Given the description of an element on the screen output the (x, y) to click on. 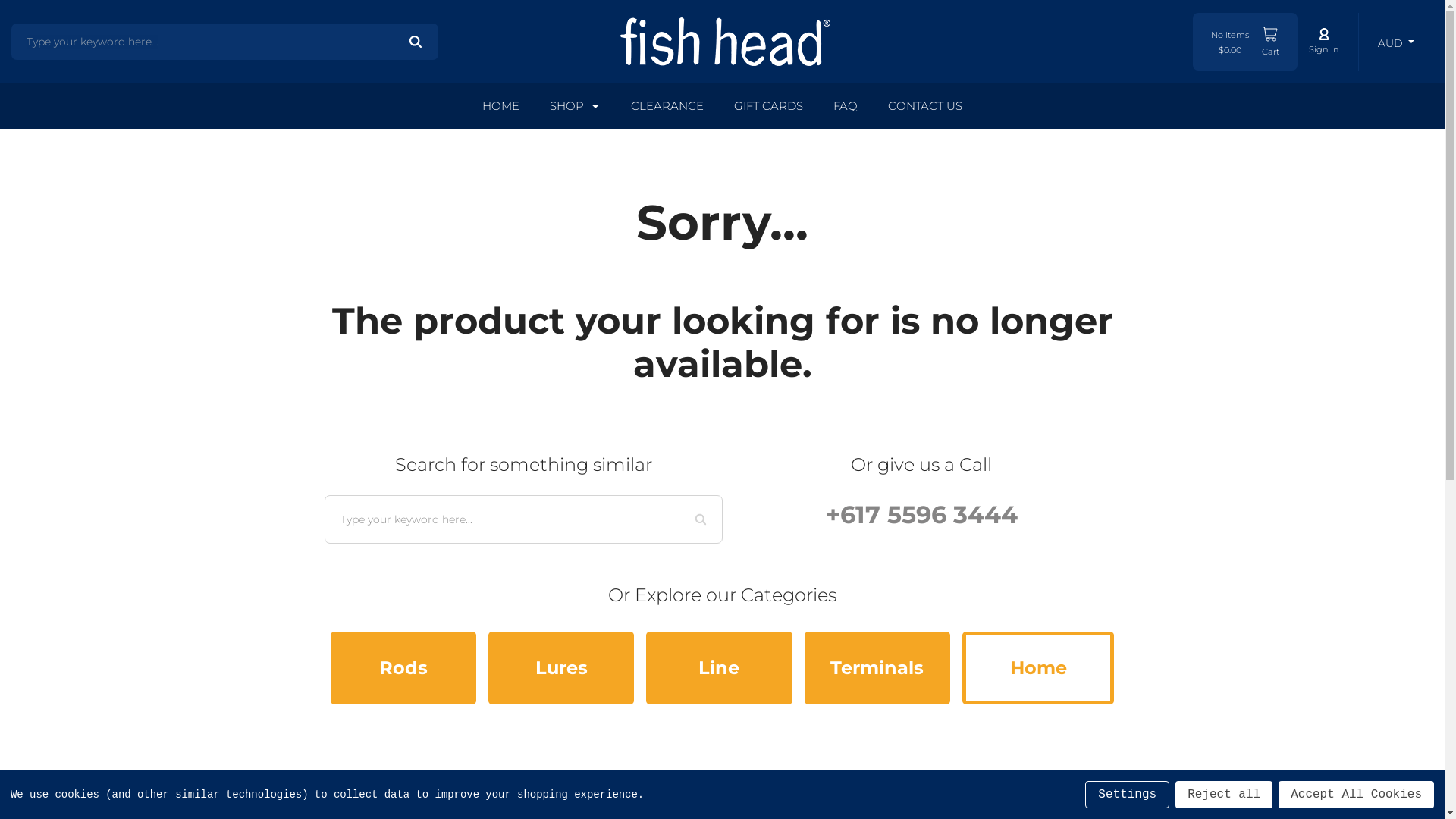
Terminals Element type: text (877, 667)
No Items
$0.00
Cart Element type: text (1244, 41)
Rods Element type: text (403, 667)
Line Element type: text (718, 667)
Settings Element type: text (1127, 794)
HOME Element type: text (500, 105)
Reject all Element type: text (1223, 794)
CONTACT US Element type: text (924, 105)
Lures Element type: text (560, 667)
Home Element type: text (1038, 667)
Sign In Element type: text (1323, 41)
+617 5596 3444 Element type: text (920, 514)
CLEARANCE Element type: text (667, 105)
Accept All Cookies Element type: text (1356, 794)
SHOP Element type: text (575, 105)
FAQ Element type: text (845, 105)
GIFT CARDS Element type: text (768, 105)
